Given the description of an element on the screen output the (x, y) to click on. 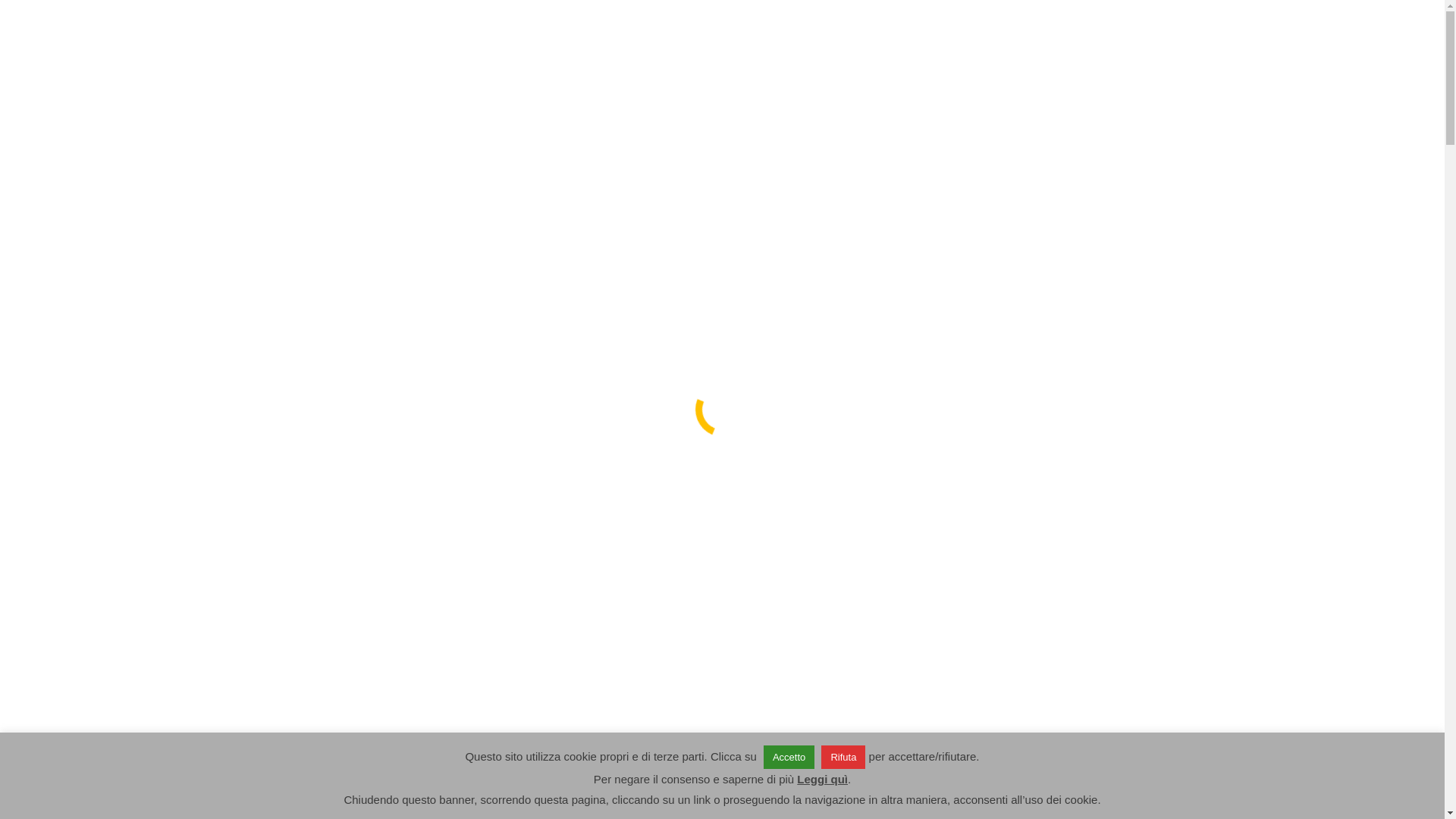
Twitter page opens in new window (321, 14)
YouTube page opens in new window (397, 14)
IL GRUPPO (612, 79)
Linkedin page opens in new window (371, 14)
Linkedin page opens in new window (371, 14)
YouTube page opens in new window (397, 14)
Facebook page opens in new window (296, 14)
Instagram page opens in new window (347, 14)
SOLUZIONI (705, 79)
Instagram page opens in new window (347, 14)
Facebook page opens in new window (296, 14)
Twitter page opens in new window (321, 14)
